Given the description of an element on the screen output the (x, y) to click on. 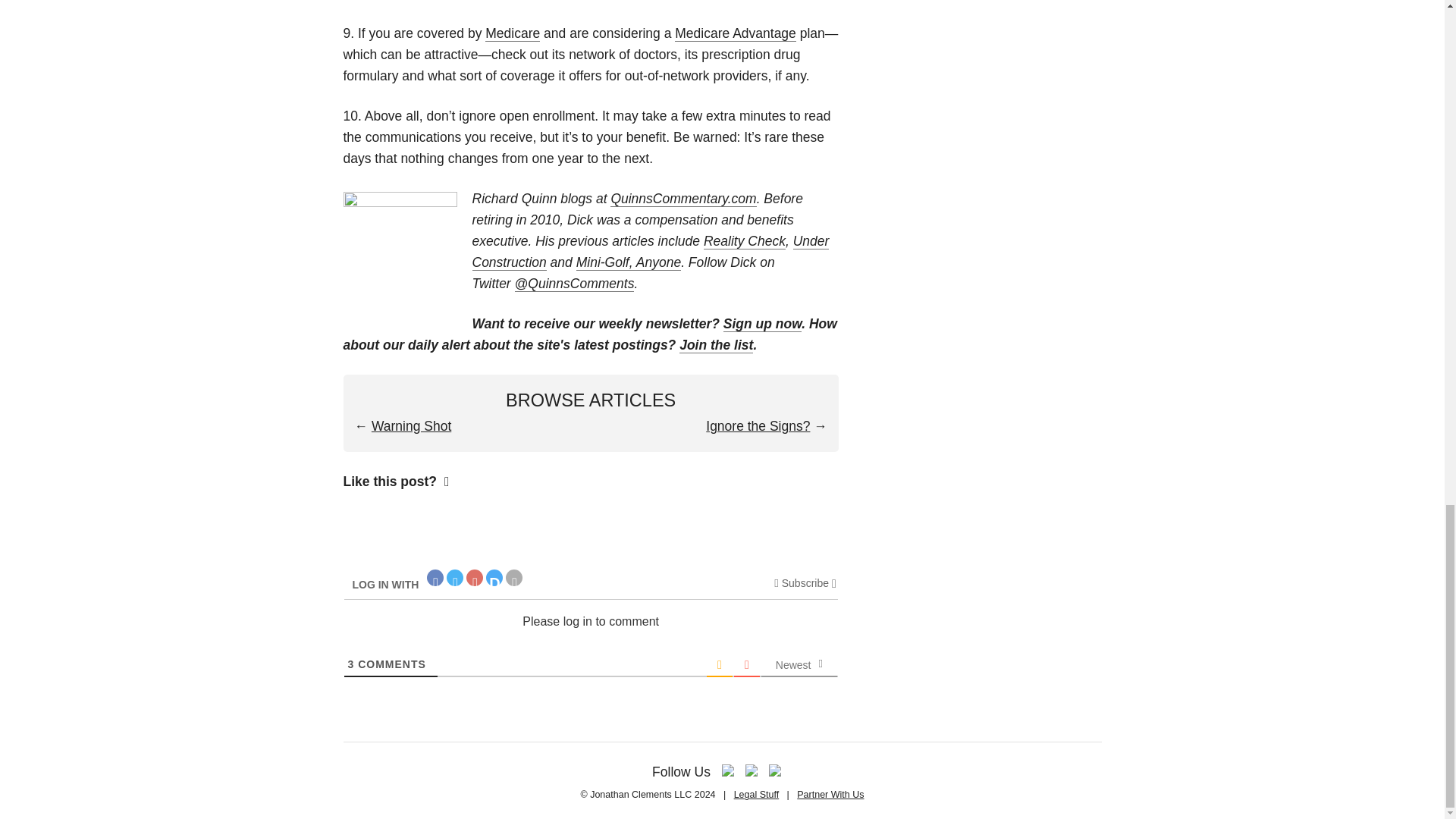
Join the list (715, 344)
Medicare Advantage (735, 33)
Ignore the Signs? (757, 426)
Mini-Golf, Anyone (628, 262)
Reality Check (744, 241)
Under Construction (649, 252)
Sign up now (762, 324)
Medicare (512, 33)
Warning Shot (411, 426)
QuinnsCommentary.com (682, 198)
